Given the description of an element on the screen output the (x, y) to click on. 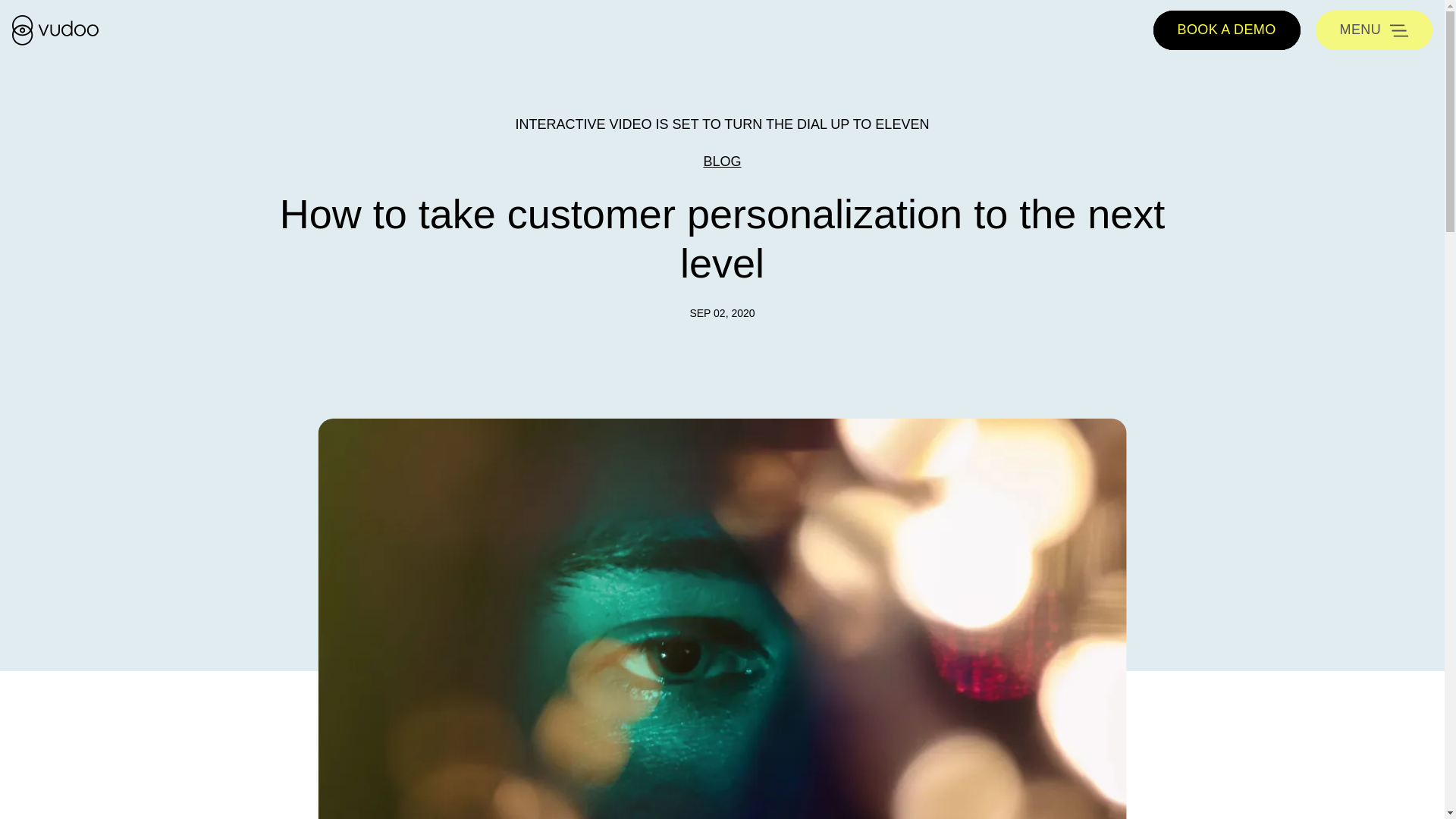
BOOK A DEMO (1226, 29)
BLOG (722, 160)
MENU (1374, 29)
